Given the description of an element on the screen output the (x, y) to click on. 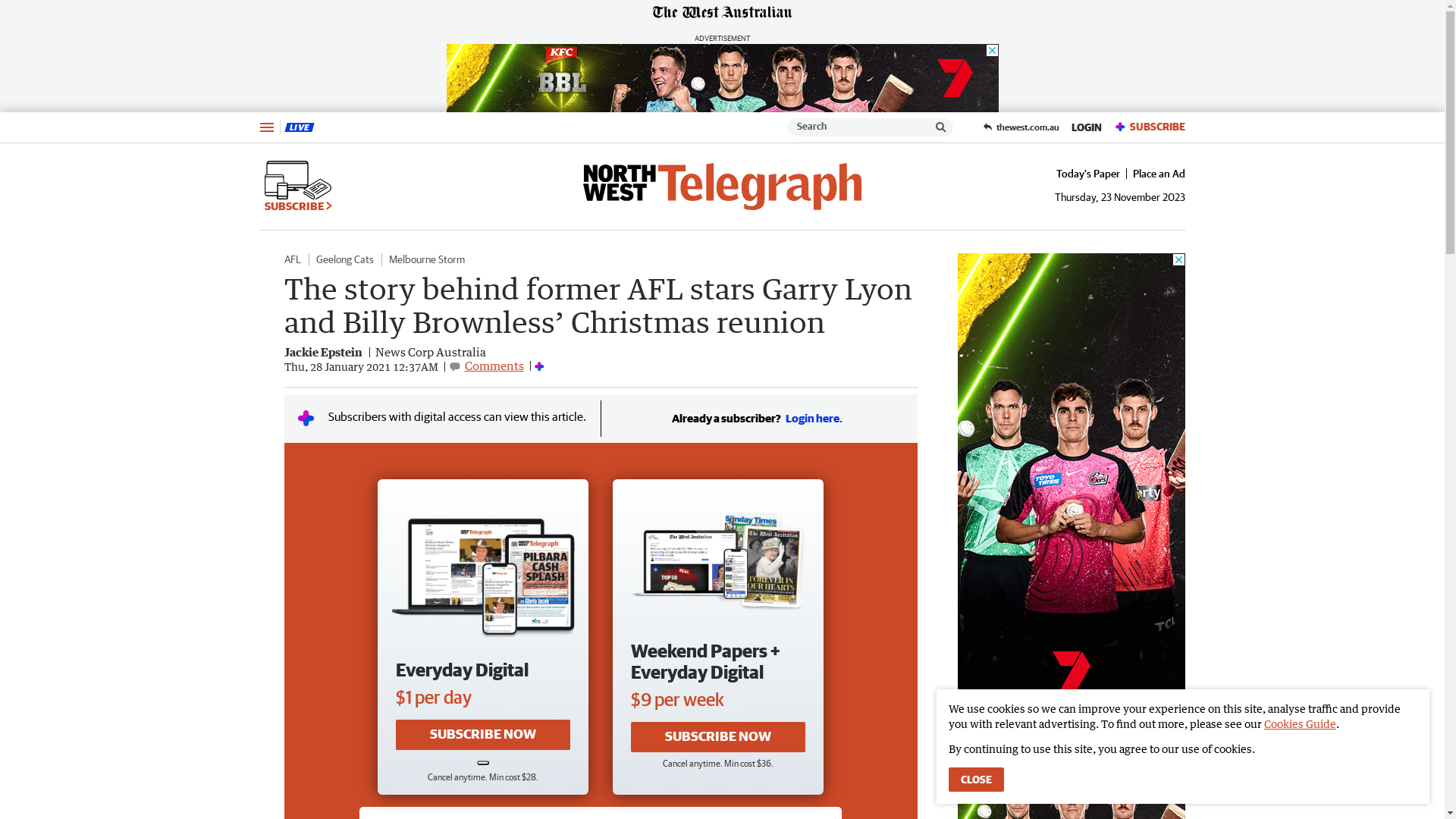
3rd party ad content Element type: hover (721, 77)
Login here. Element type: text (814, 418)
SUBSCRIBE CHEVRON RIGHT ICON Element type: text (297, 186)
LOGIN Element type: text (1085, 127)
AFL Element type: text (291, 259)
SUBSCRIBE NOW Element type: text (717, 736)
Comments Element type: text (493, 365)
Melbourne Storm Element type: text (425, 259)
SUBSCRIBE NOW Element type: text (482, 734)
Place an Ad Element type: text (1155, 173)
Please enter a search term. Element type: hover (940, 127)
3rd party ad content Element type: hover (1070, 480)
Today's Paper Element type: text (1087, 173)
Geelong Cats Element type: text (343, 259)
PREMIUMSUBSCRIBE Element type: text (1145, 127)
CLOSE Element type: text (976, 779)
Cookies Guide Element type: text (1300, 723)
thewest.com.au Element type: text (1020, 127)
Menu Element type: text (266, 126)
